Given the description of an element on the screen output the (x, y) to click on. 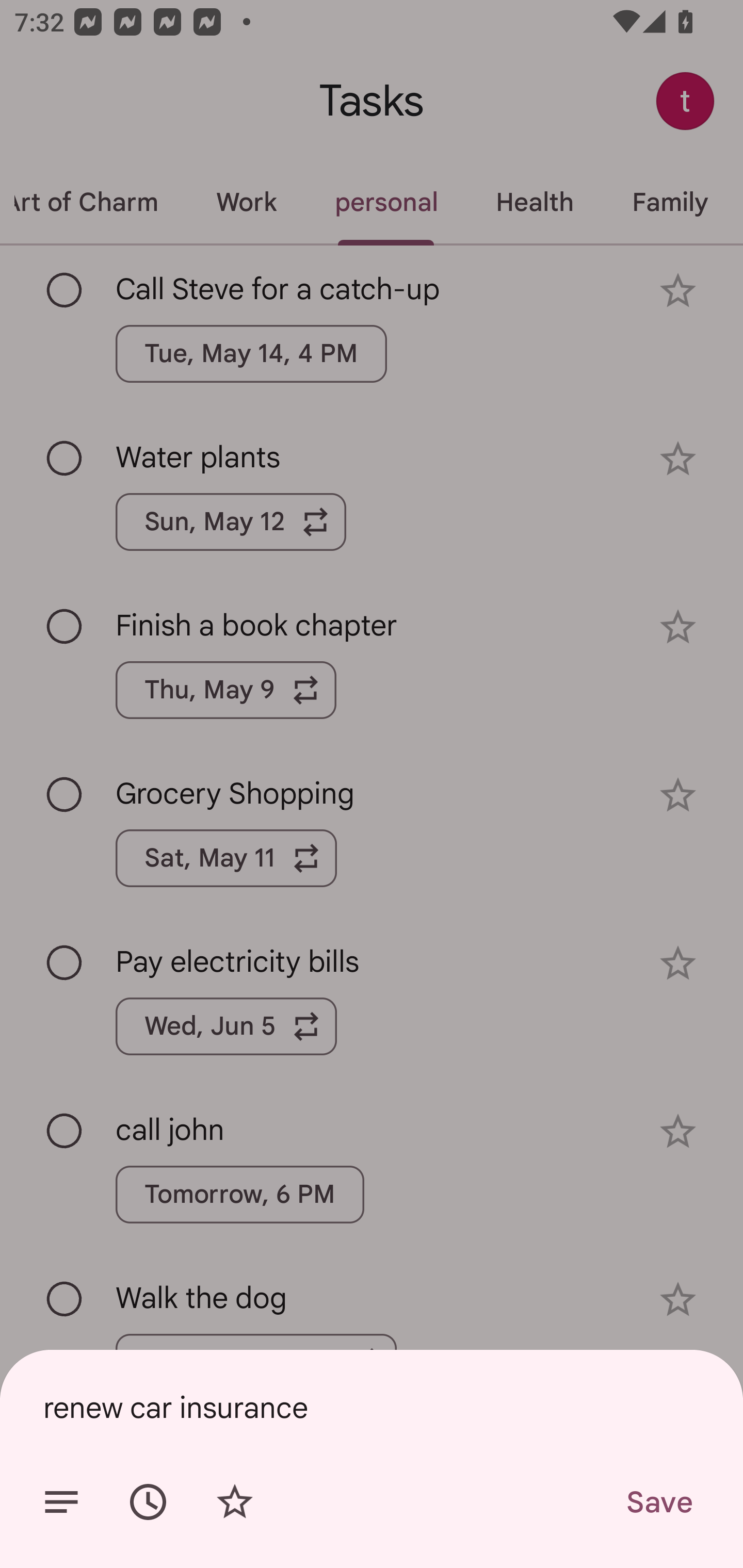
renew car insurance (371, 1407)
Save (659, 1501)
Add details (60, 1501)
Set date/time (147, 1501)
Add star (234, 1501)
